Given the description of an element on the screen output the (x, y) to click on. 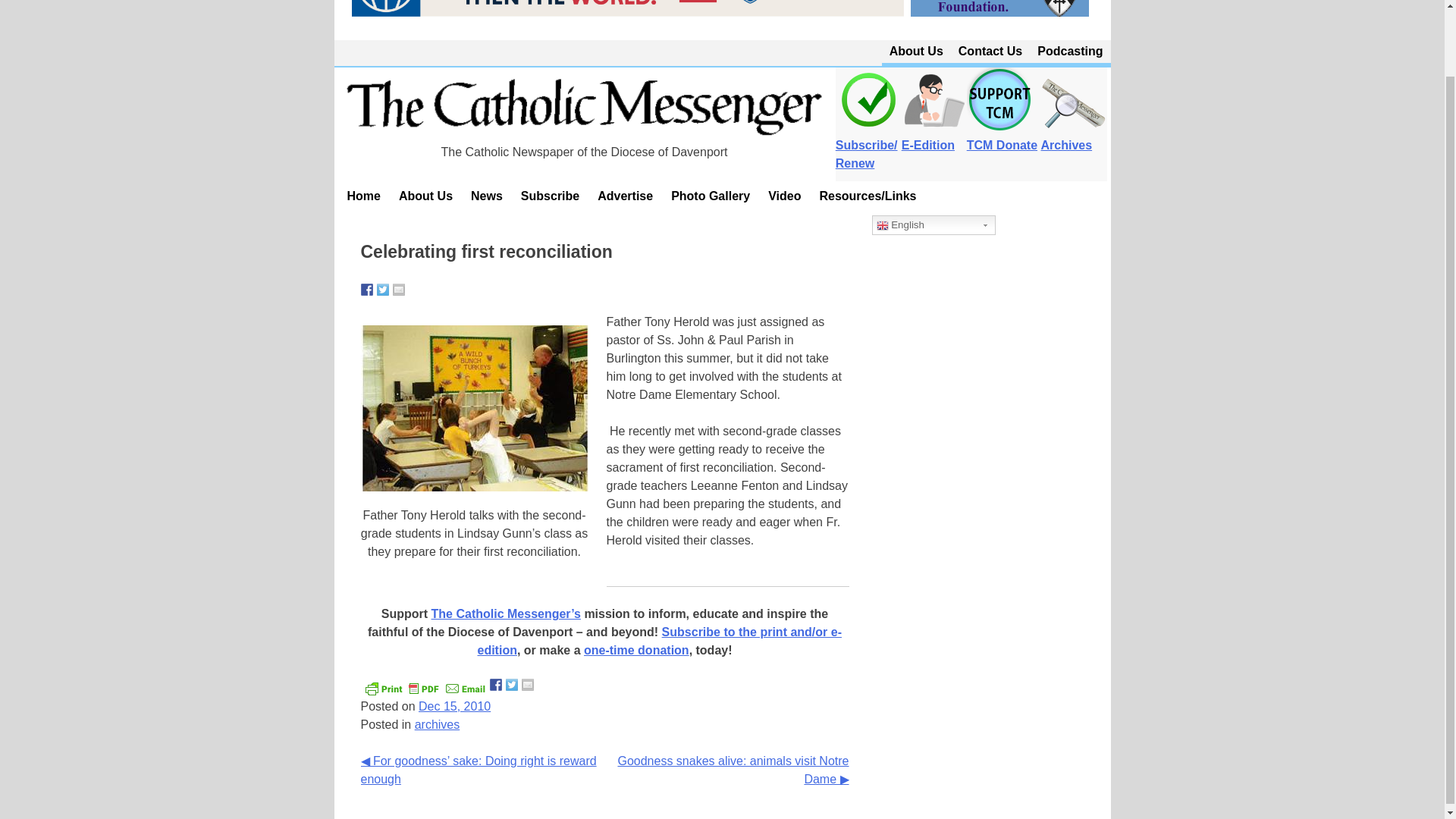
Share on Facebook (366, 289)
Share by email (527, 684)
E-Edition (933, 135)
About Us (916, 51)
About Us (425, 196)
Advertise (625, 196)
Share on Twitter (381, 289)
News (487, 196)
Share on Twitter (510, 684)
Home (363, 196)
